Given the description of an element on the screen output the (x, y) to click on. 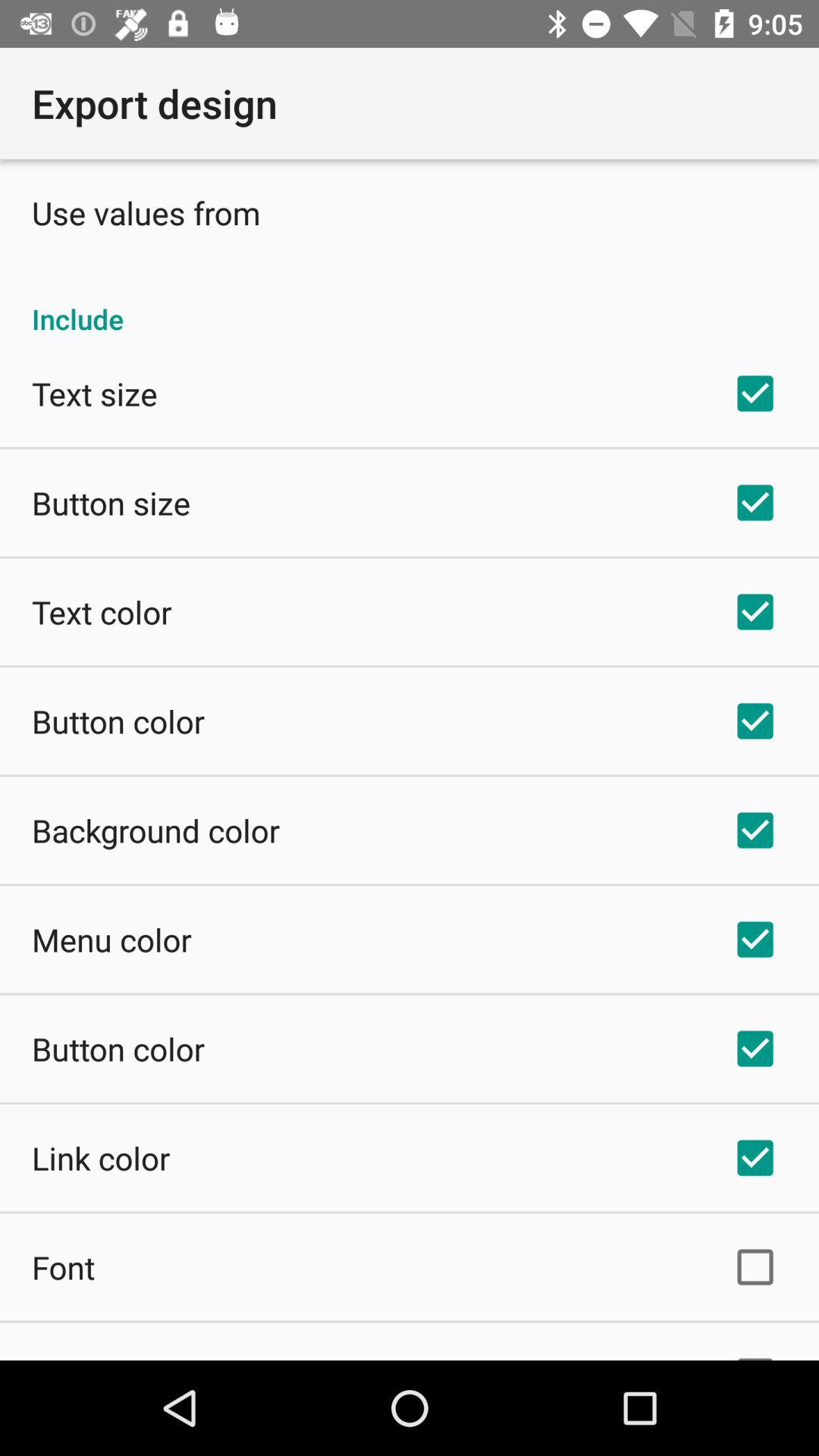
launch the app above shadow (62, 1266)
